Given the description of an element on the screen output the (x, y) to click on. 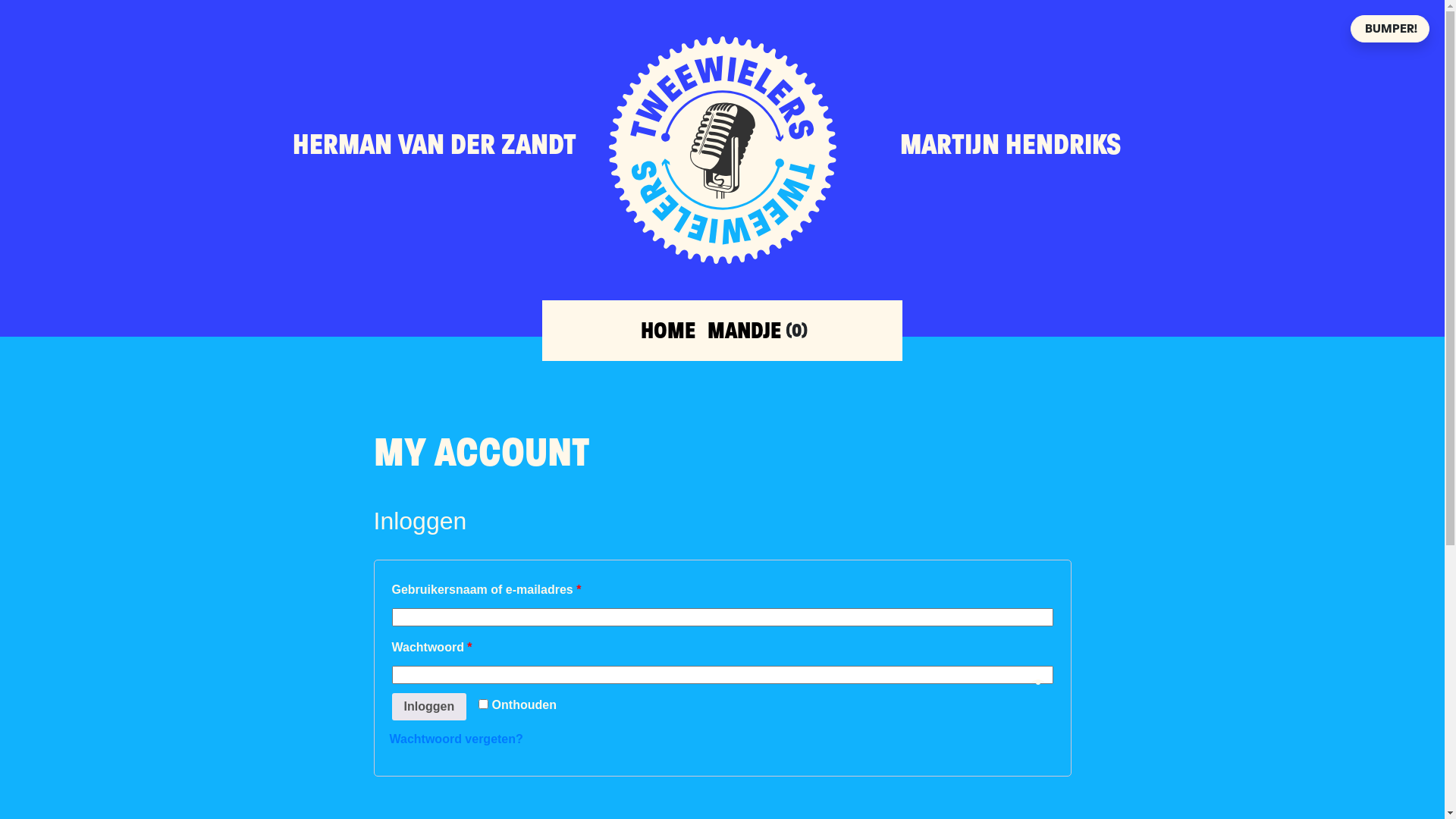
HOME Element type: text (667, 330)
Wachtwoord vergeten? Element type: text (456, 738)
BUMPER! Element type: text (1389, 28)
Inloggen Element type: text (428, 706)
MANDJE Element type: text (744, 330)
